Given the description of an element on the screen output the (x, y) to click on. 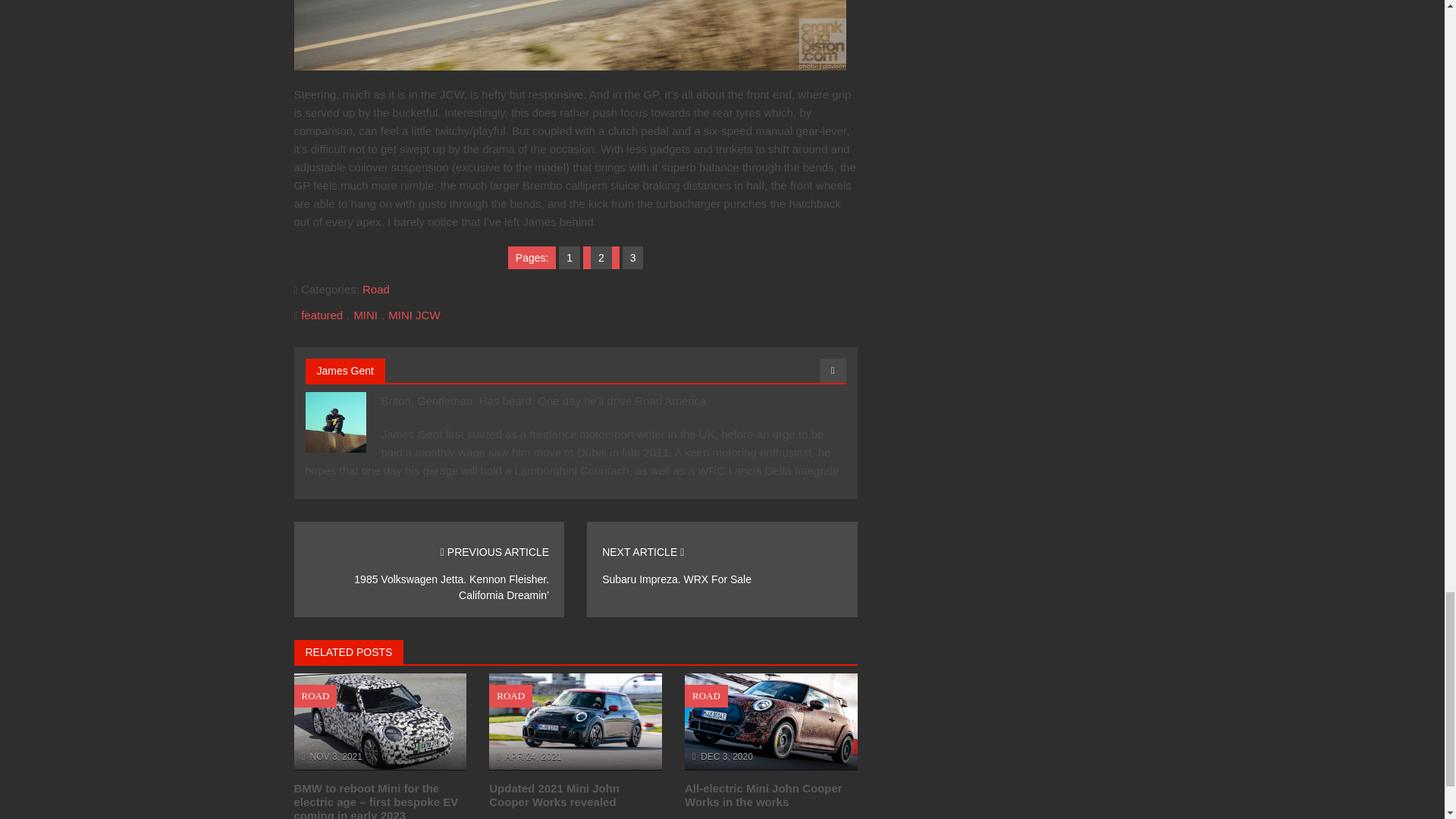
Wednesday, November 3, 2021, 12:43 pm (336, 756)
1 (569, 257)
Saturday, April 24, 2021, 11:41 am (533, 756)
MINI JCW (413, 314)
3 (633, 257)
Subaru Impreza. WRX For Sale (676, 579)
Updated 2021 Mini John Cooper Works revealed (554, 795)
MINI (365, 314)
Thursday, December 3, 2020, 3:10 pm (726, 756)
Road (376, 288)
James Gent (345, 370)
featured (321, 314)
All-electric Mini John Cooper Works in the works (763, 795)
